Given the description of an element on the screen output the (x, y) to click on. 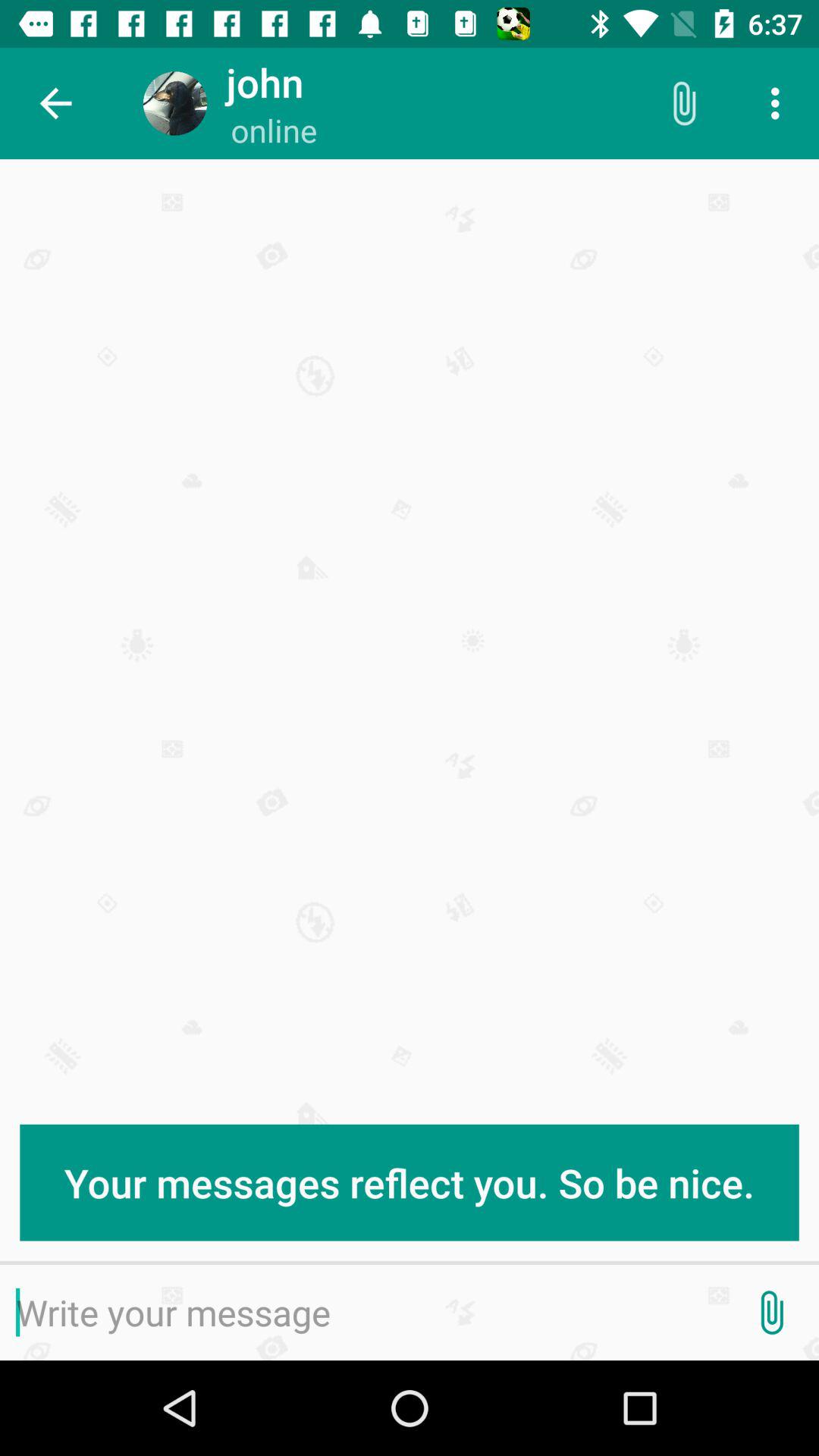
choose icon above your messages reflect item (55, 103)
